Given the description of an element on the screen output the (x, y) to click on. 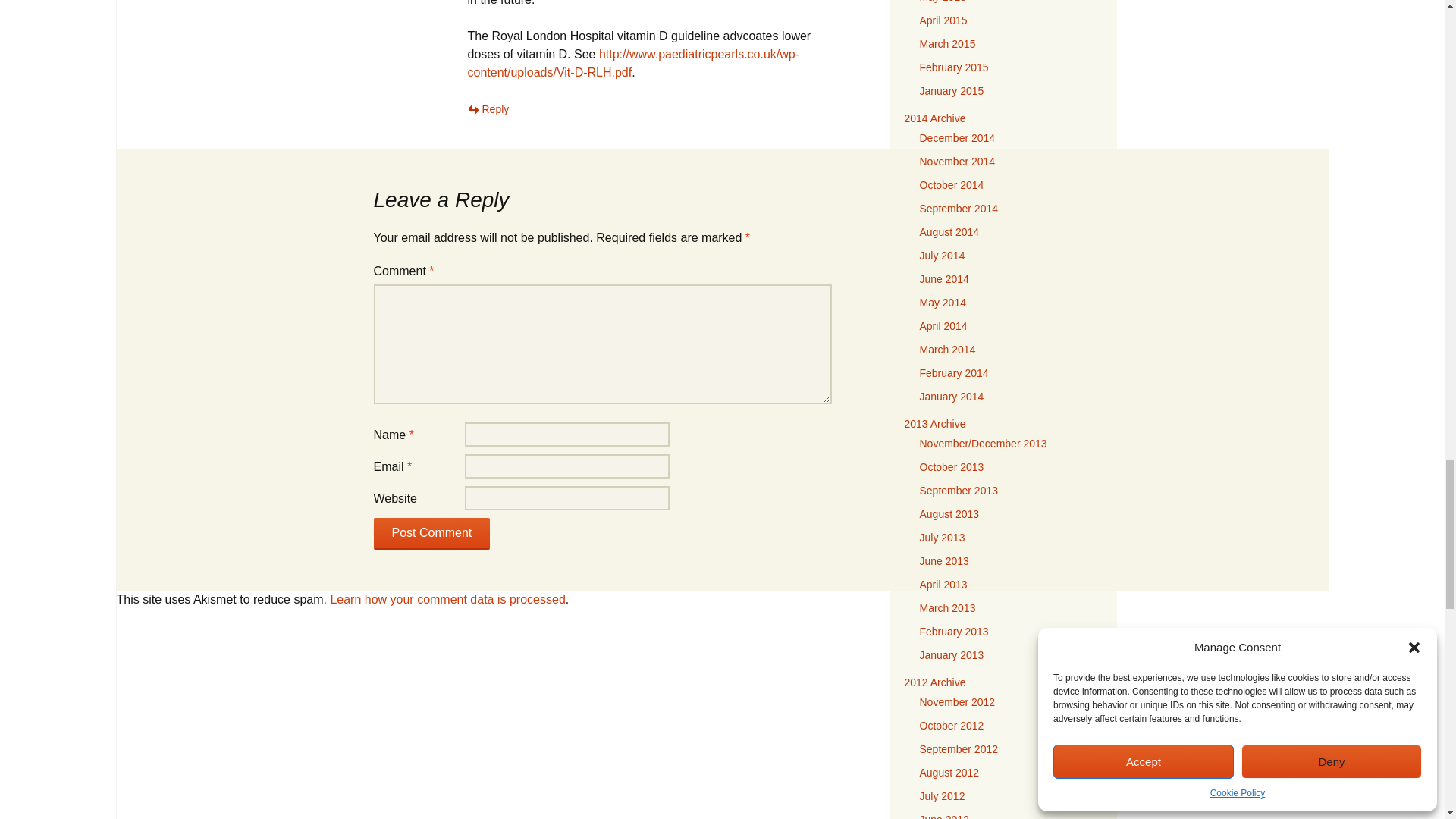
Post Comment (430, 533)
